Given the description of an element on the screen output the (x, y) to click on. 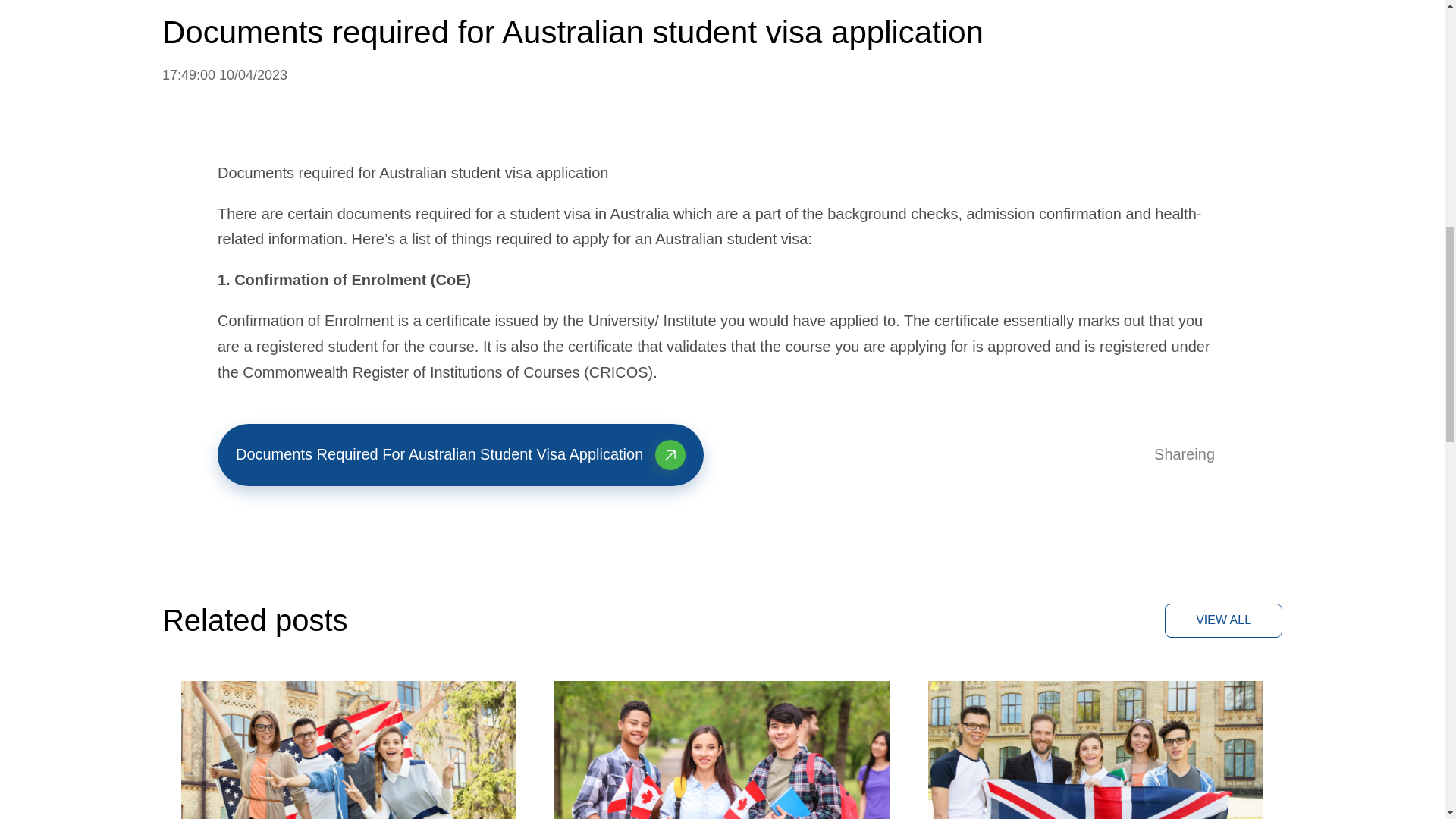
UK University Supporting Documents (1095, 749)
USA University Supporting Documents (348, 749)
Canada University Supporting Documents (721, 749)
